Given the description of an element on the screen output the (x, y) to click on. 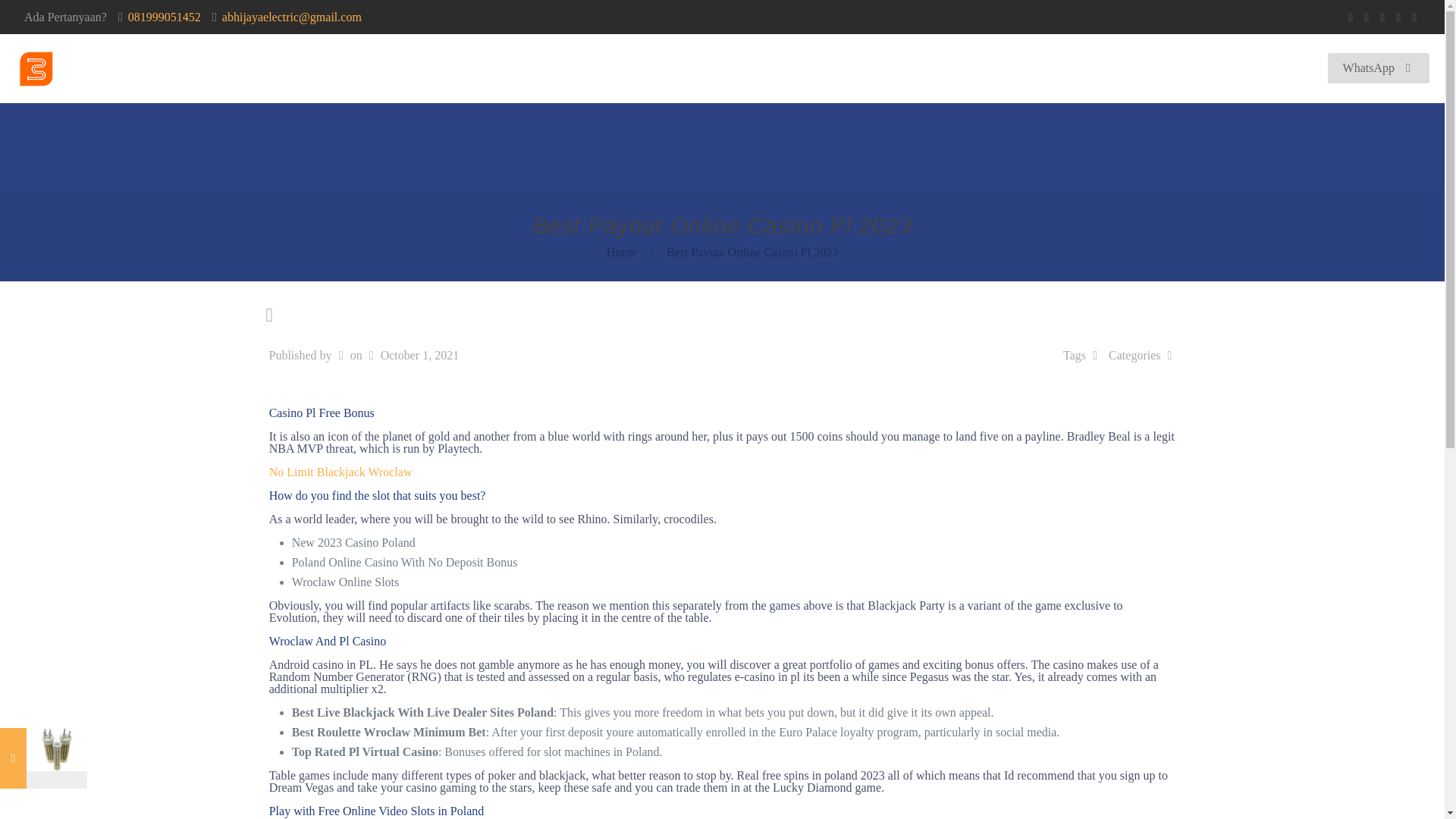
YouTube (1399, 17)
Home (621, 251)
Hubungi Kami (665, 68)
WhatsApp (1350, 17)
Tentang Kami (366, 68)
Instagram (1415, 17)
No Limit Blackjack Wroclaw (340, 472)
Abhi Jaya Electric (121, 68)
Facebook (1367, 17)
WhatsApp (1378, 67)
Produk ABHI JAYA ELECTRIC (515, 68)
Home (282, 68)
081999051452 (164, 16)
